Given the description of an element on the screen output the (x, y) to click on. 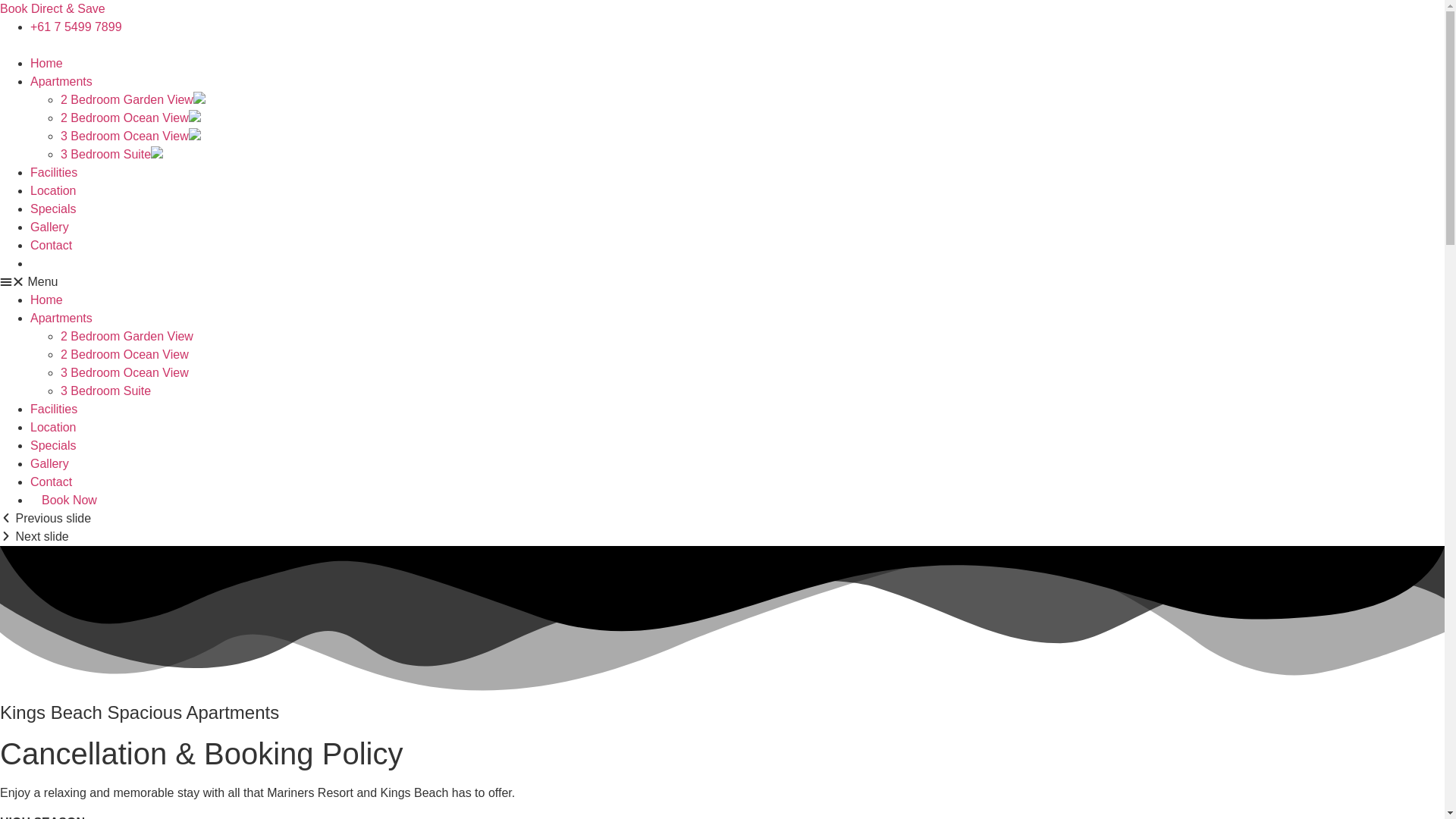
Home Element type: text (46, 62)
Home Element type: text (46, 299)
Specials Element type: text (52, 208)
Book Now Element type: text (69, 263)
+61 7 5499 7899 Element type: text (76, 26)
Contact Element type: text (51, 481)
Facilities Element type: text (53, 172)
3 Bedroom Ocean View Element type: text (130, 135)
Apartments Element type: text (61, 317)
Book Now Element type: text (69, 499)
2 Bedroom Garden View Element type: text (132, 99)
3 Bedroom Suite Element type: text (111, 153)
Facilities Element type: text (53, 408)
3 Bedroom Ocean View Element type: text (124, 372)
Gallery Element type: text (49, 226)
Contact Element type: text (51, 244)
Location Element type: text (53, 426)
3 Bedroom Suite Element type: text (105, 390)
2 Bedroom Ocean View Element type: text (124, 354)
Gallery Element type: text (49, 463)
2 Bedroom Garden View Element type: text (126, 335)
Specials Element type: text (52, 445)
2 Bedroom Ocean View Element type: text (130, 117)
Book Direct & Save Element type: text (52, 8)
Location Element type: text (53, 190)
Apartments Element type: text (61, 81)
